Given the description of an element on the screen output the (x, y) to click on. 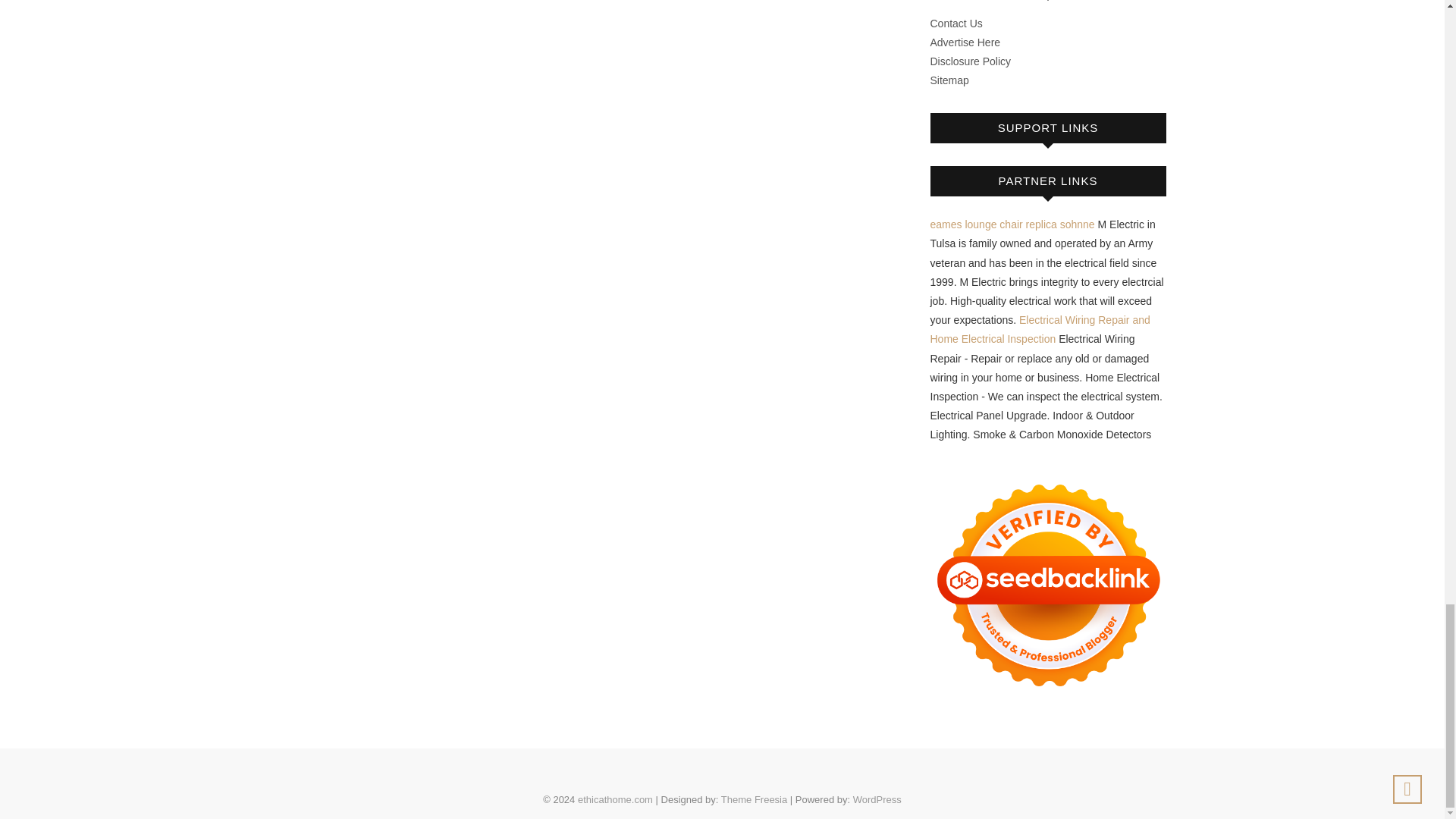
WordPress (877, 799)
Theme Freesia (753, 799)
ethicathome.com (615, 799)
Seedbacklink (1048, 585)
